Given the description of an element on the screen output the (x, y) to click on. 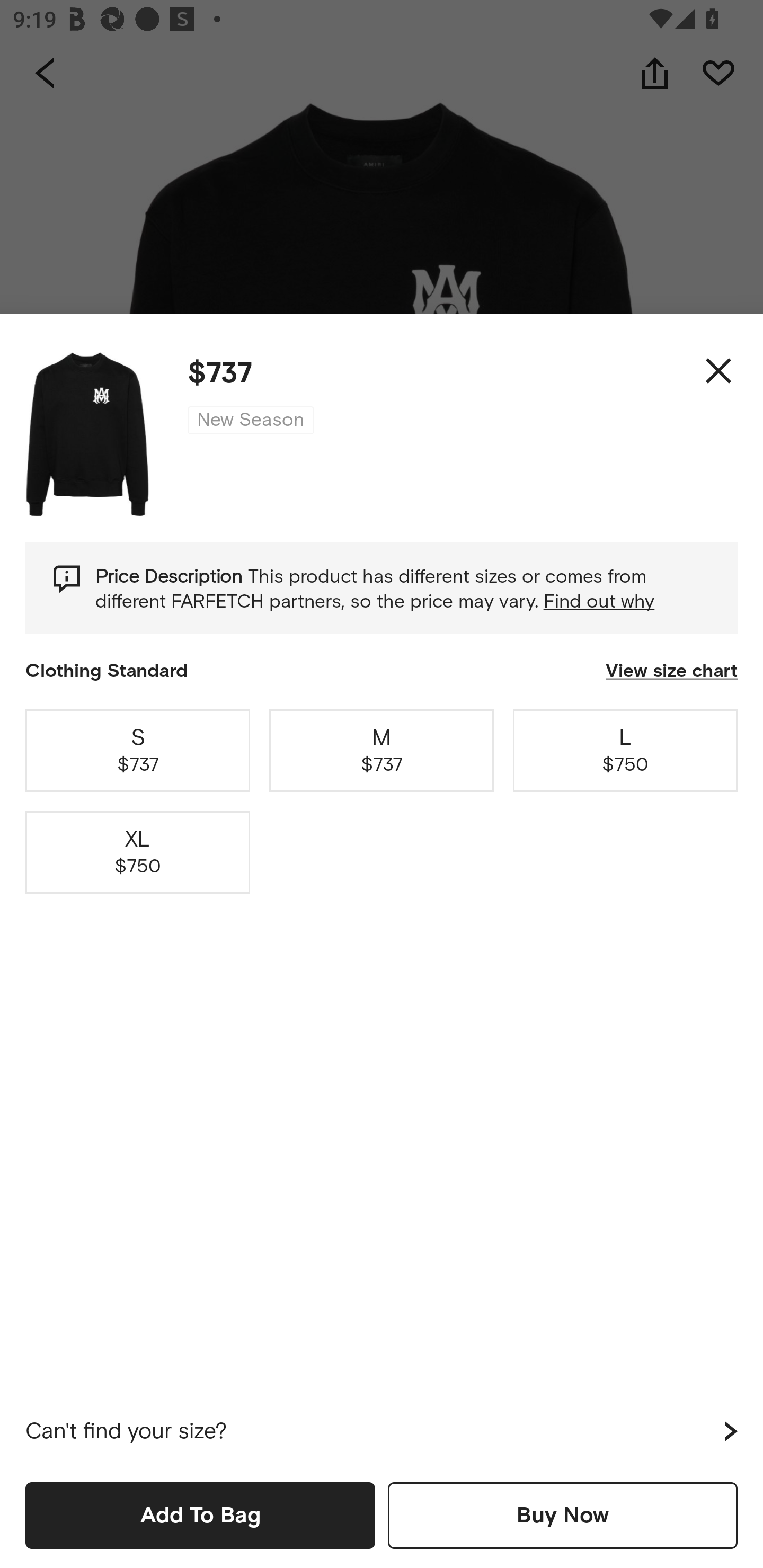
S $737 (137, 749)
M $737 (381, 749)
L $750 (624, 749)
XL $750 (137, 851)
Can't find your size? (381, 1431)
Add To Bag (200, 1515)
Buy Now (562, 1515)
